Given the description of an element on the screen output the (x, y) to click on. 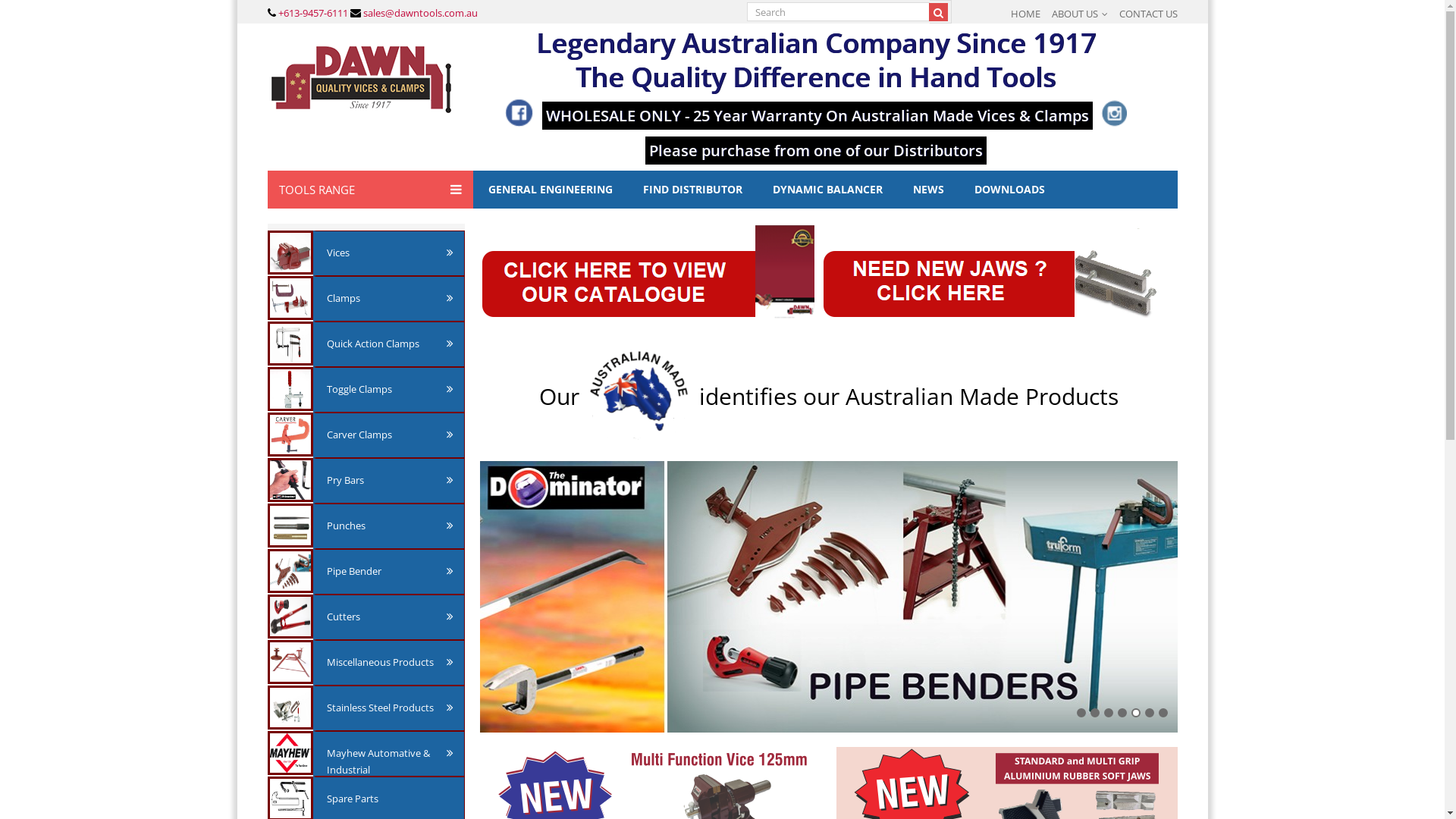
ABOUT US Element type: text (1079, 13)
GENERAL ENGINEERING Element type: text (550, 189)
DawnTools Element type: hover (360, 79)
Mayhew Automative & Industrial Element type: text (389, 761)
Toggle Clamps Element type: text (389, 388)
Please purchase from one of our Distributors Element type: text (815, 145)
DOWNLOADS Element type: text (1008, 189)
Vices Element type: text (389, 252)
DYNAMIC BALANCER Element type: text (826, 189)
Quick Action Clamps Element type: text (389, 343)
Pry Bars Element type: text (389, 479)
Carver Clamps Element type: text (389, 434)
Cutters Element type: text (389, 616)
Clamps Element type: text (389, 297)
Miscellaneous Products Element type: text (389, 661)
Pipe Bender Element type: text (389, 570)
Spare Parts Element type: text (389, 798)
Punches Element type: text (389, 525)
sales@dawntools.com.au Element type: text (418, 12)
HOME Element type: text (1024, 13)
FIND DISTRIBUTOR Element type: text (692, 189)
NEWS Element type: text (928, 189)
Stainless Steel Products Element type: text (389, 707)
CONTACT US Element type: text (1148, 13)
+613-9457-6111 Element type: text (312, 12)
